Given the description of an element on the screen output the (x, y) to click on. 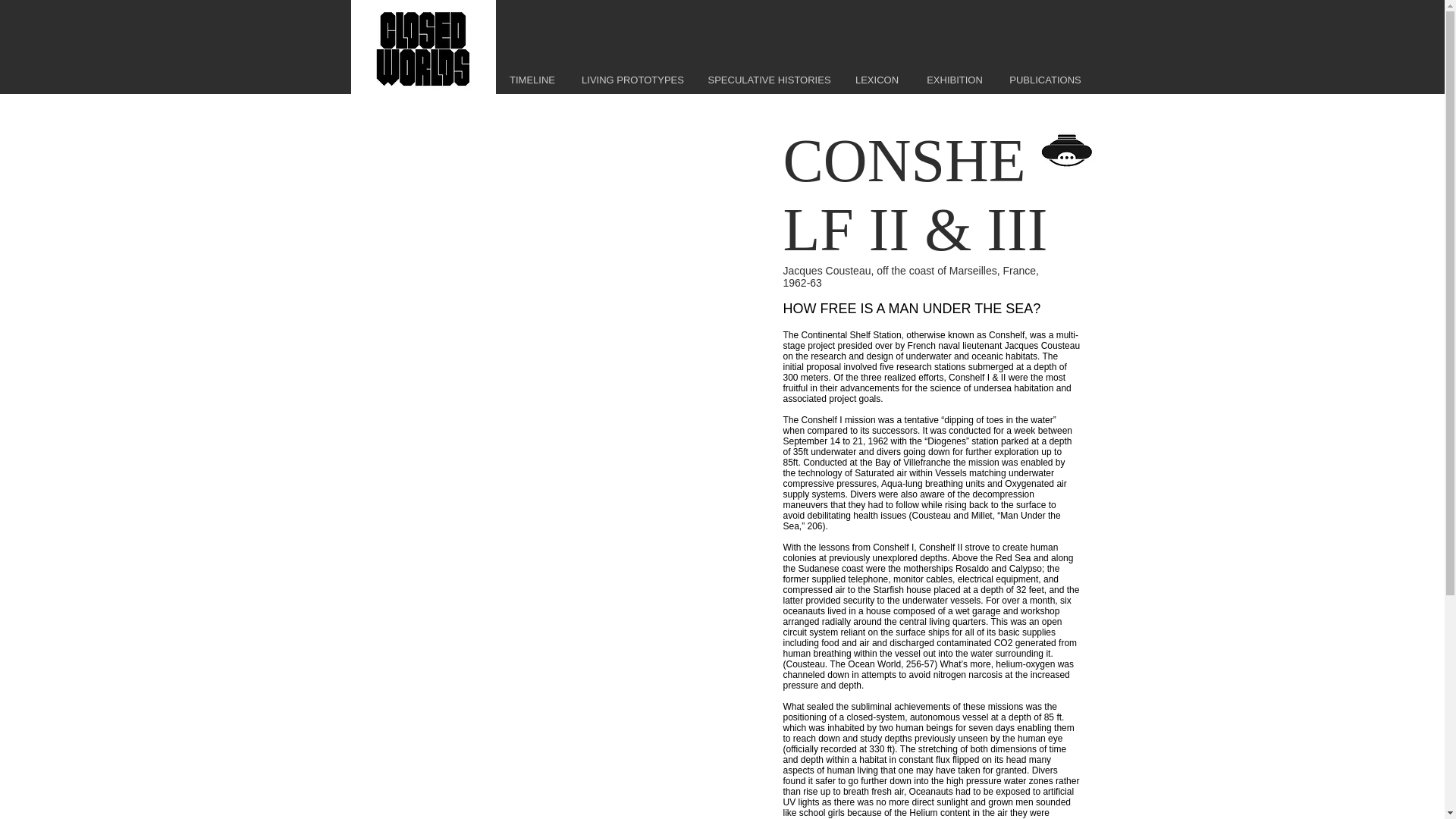
LEXICON (876, 80)
LIVING PROTOTYPES (632, 80)
SPECULATIVE HISTORIES (768, 80)
PUBLICATIONS (1044, 80)
EXHIBITION (954, 80)
TIMELINE (532, 80)
